Given the description of an element on the screen output the (x, y) to click on. 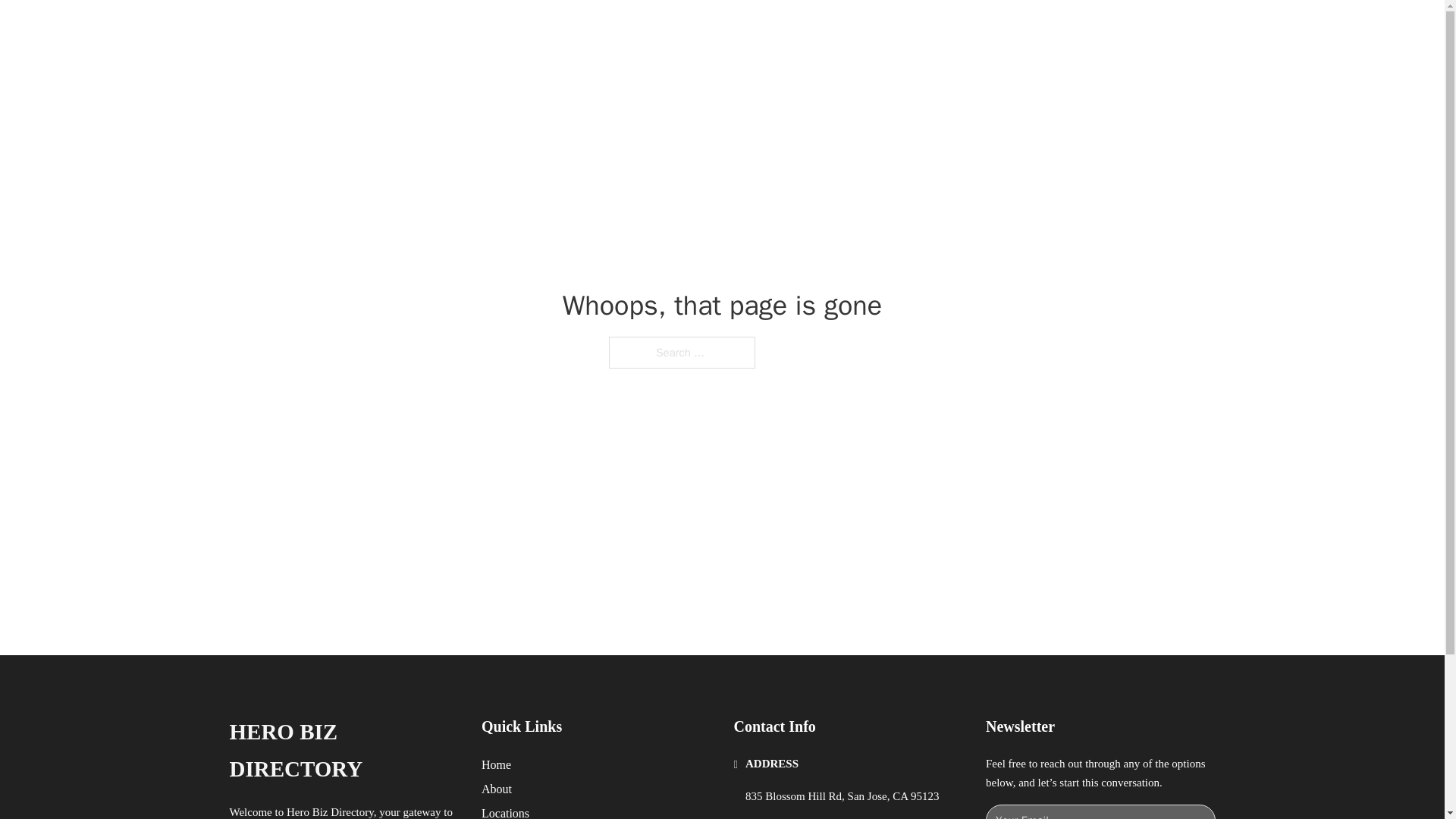
HERO BIZ DIRECTORY (343, 750)
Locations (505, 811)
HERO BIZ DIRECTORY (417, 28)
Home (496, 764)
HOME (919, 29)
About (496, 788)
LOCATIONS (990, 29)
